Given the description of an element on the screen output the (x, y) to click on. 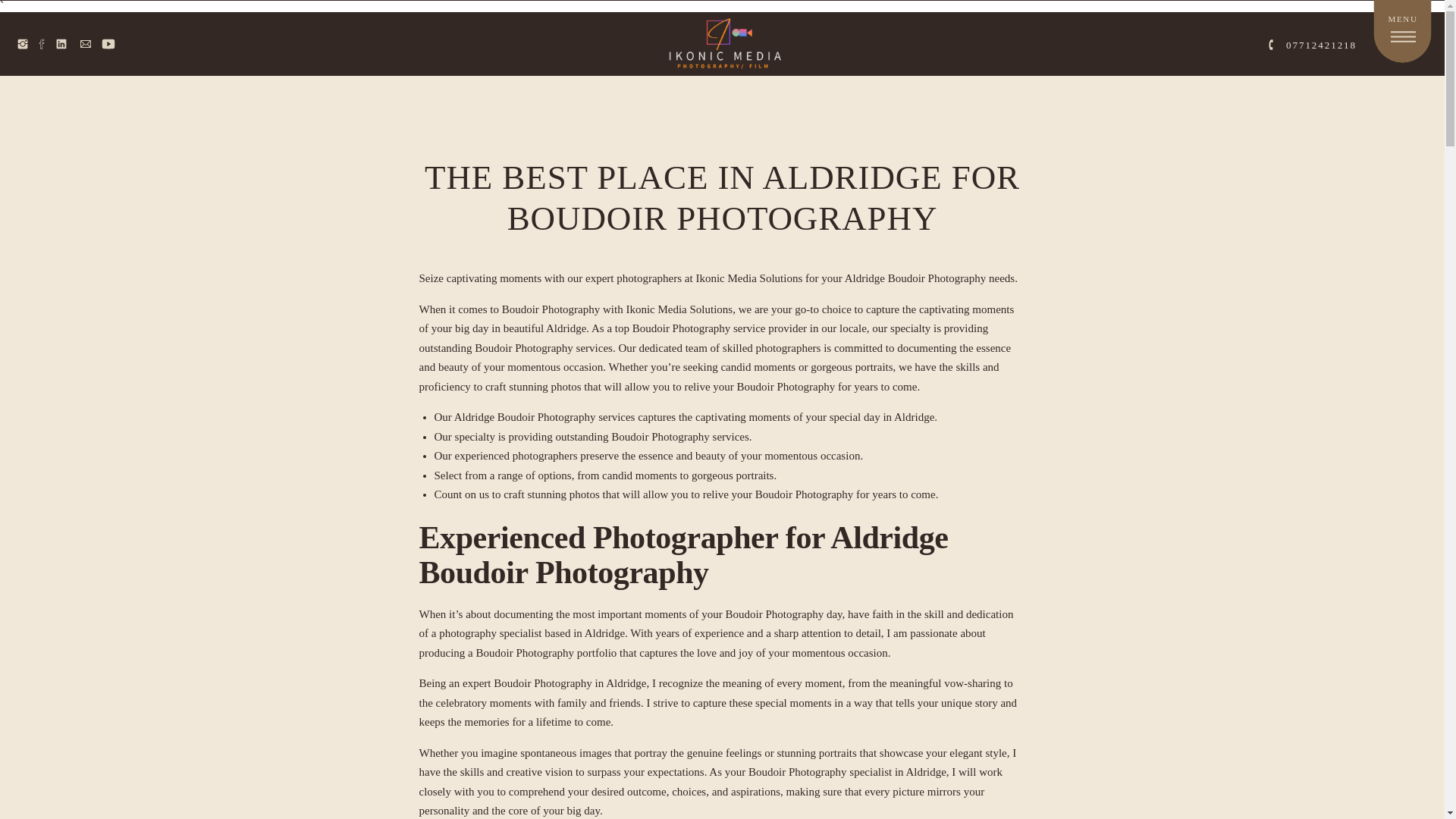
07712421218 (1309, 43)
